Given the description of an element on the screen output the (x, y) to click on. 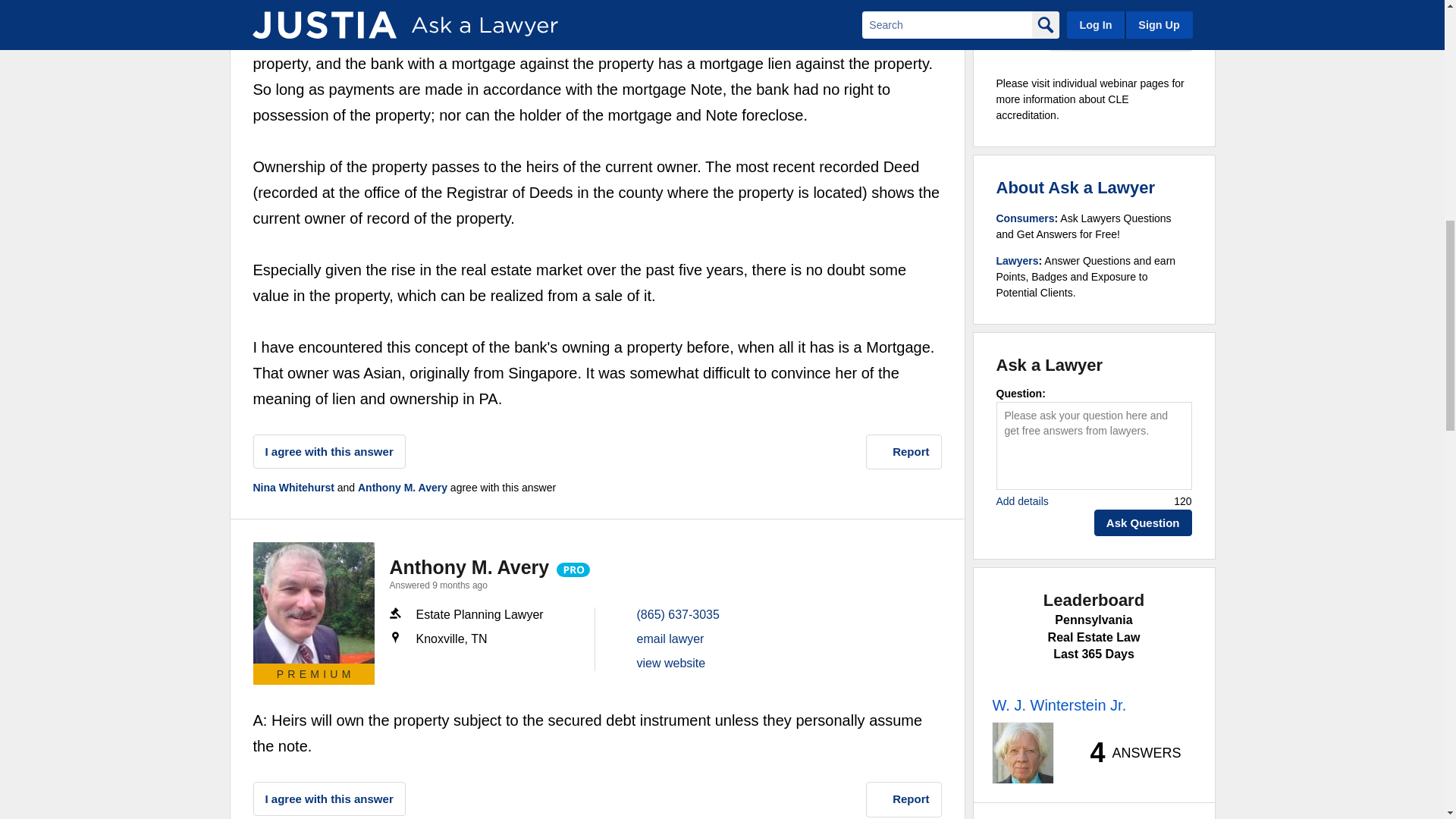
Ask a Lawyer - FAQs - Lawyers (1017, 260)
Ask a Lawyer - Leaderboard - Lawyer Photo (1021, 752)
Ask a Lawyer - Leaderboard - Lawyer Name (1058, 704)
I agree with this answer (329, 451)
Ask a Lawyer - FAQs - Consumers (1024, 218)
Anthony M. Avery (313, 602)
Ask a Lawyer - Leaderboard - Lawyer Stats (1127, 752)
